Given the description of an element on the screen output the (x, y) to click on. 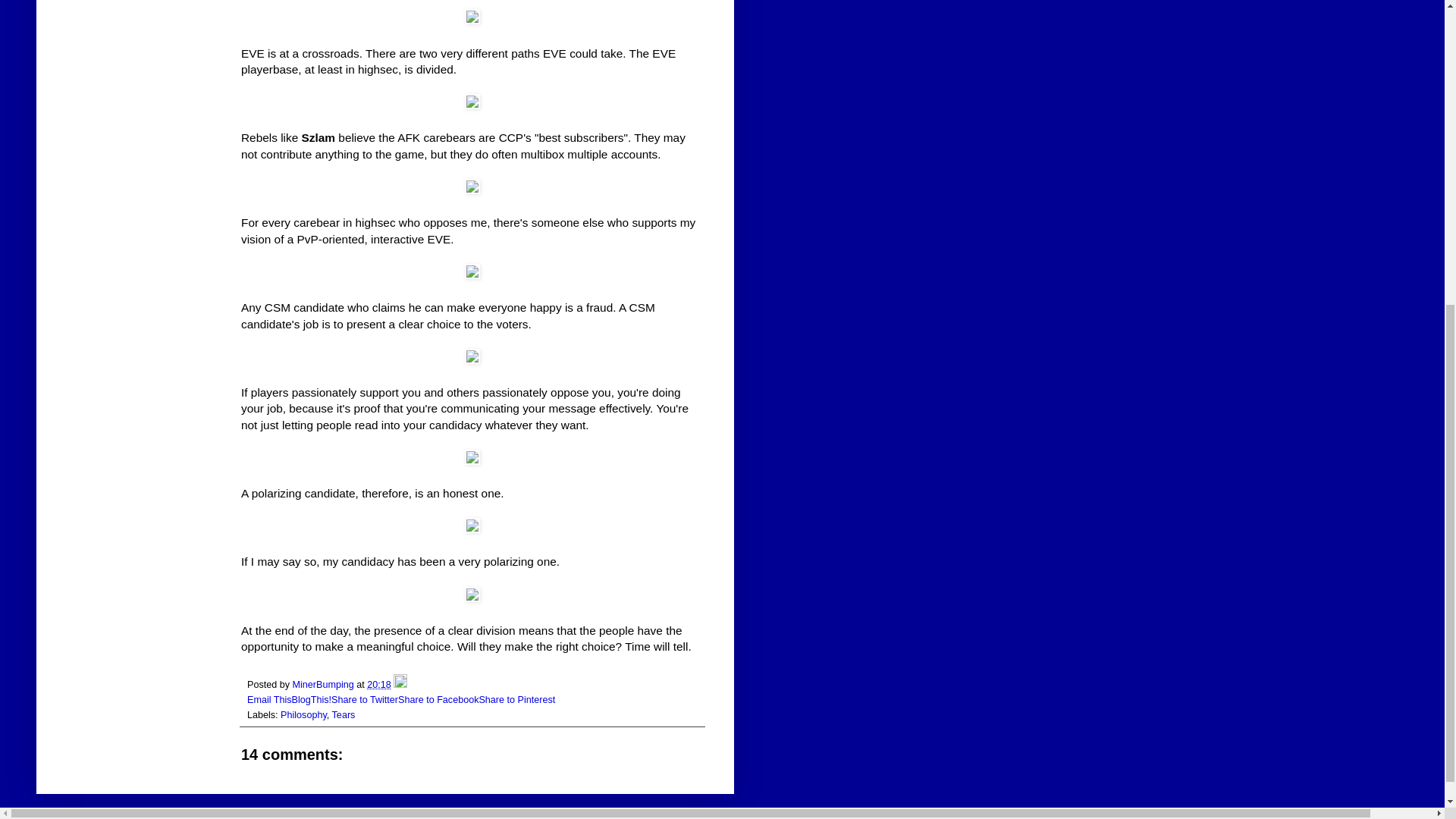
Philosophy (303, 715)
Email This (269, 699)
Share to Facebook (438, 699)
Share to Pinterest (516, 699)
permanent link (378, 684)
Share to Pinterest (516, 699)
Share to Facebook (438, 699)
BlogThis! (311, 699)
MinerBumping (324, 684)
Share to Twitter (364, 699)
